Given the description of an element on the screen output the (x, y) to click on. 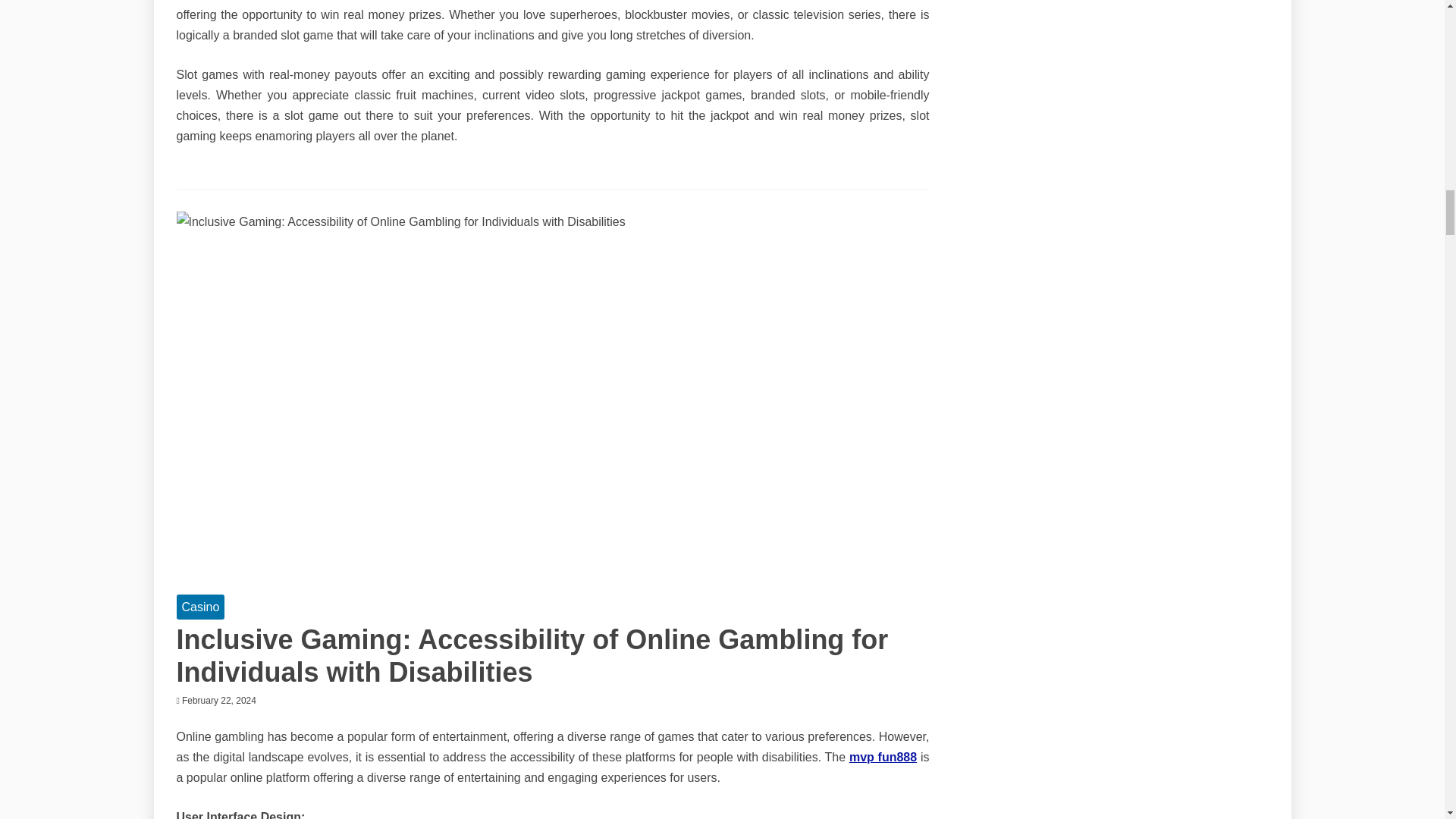
Casino (200, 606)
February 22, 2024 (219, 699)
mvp fun888 (882, 757)
